Given the description of an element on the screen output the (x, y) to click on. 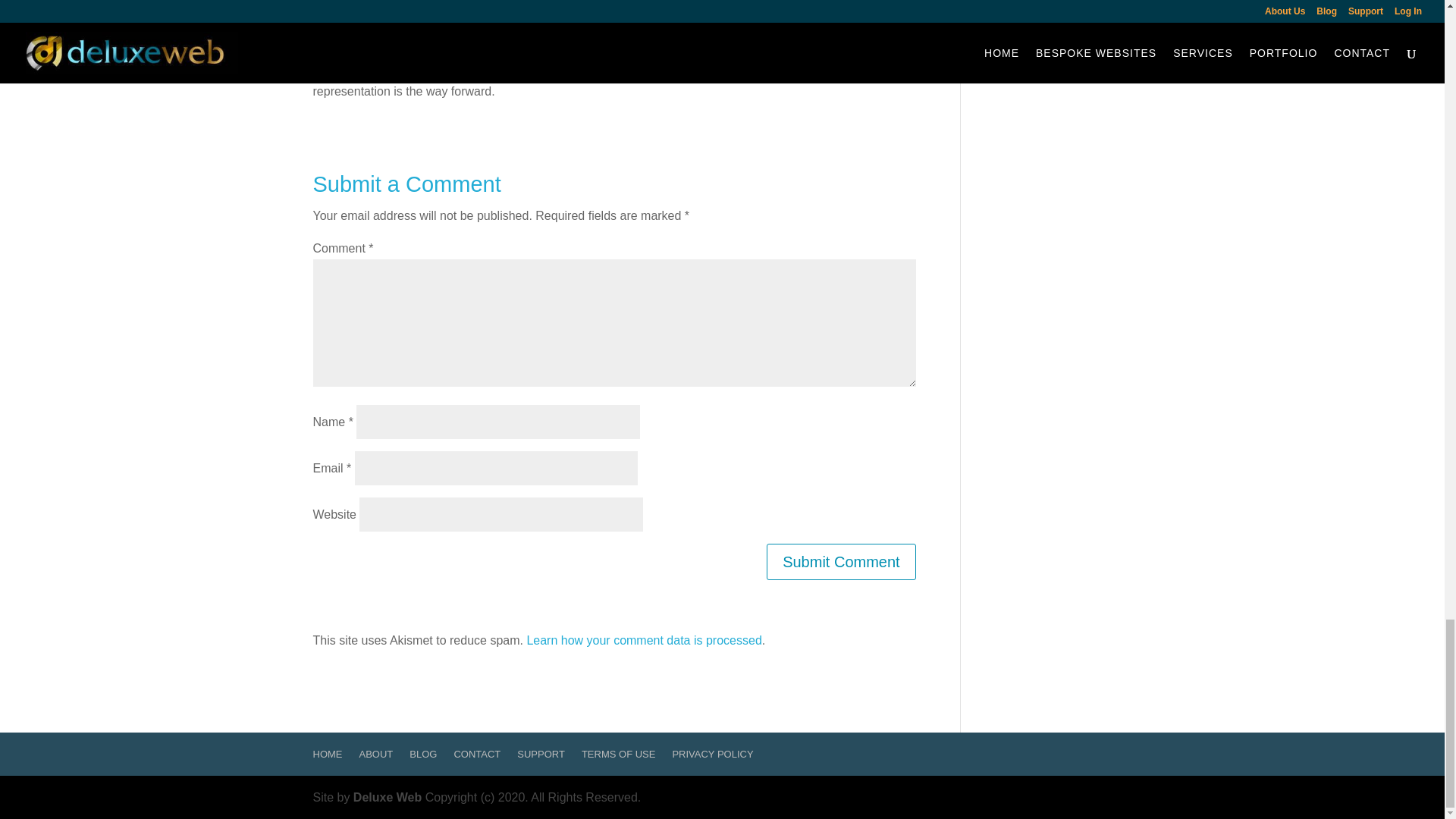
TERMS OF USE (618, 754)
Learn how your comment data is processed (643, 640)
ABOUT (376, 754)
PRIVACY POLICY (711, 754)
Submit Comment (841, 561)
CONTACT (476, 754)
HOME (327, 754)
SUPPORT (540, 754)
BLOG (422, 754)
Deluxe Web (387, 797)
